Given the description of an element on the screen output the (x, y) to click on. 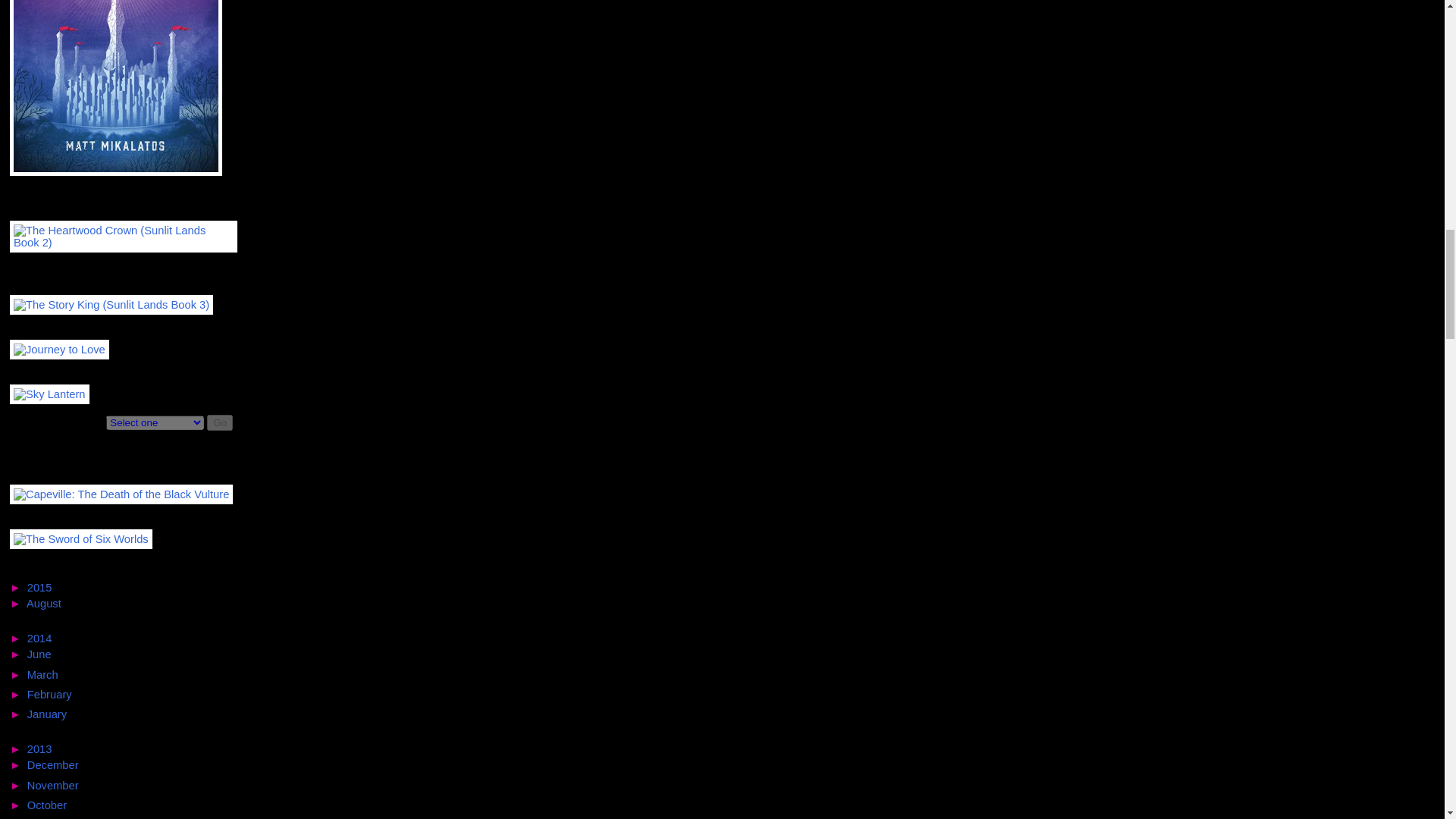
Go (219, 422)
